Given the description of an element on the screen output the (x, y) to click on. 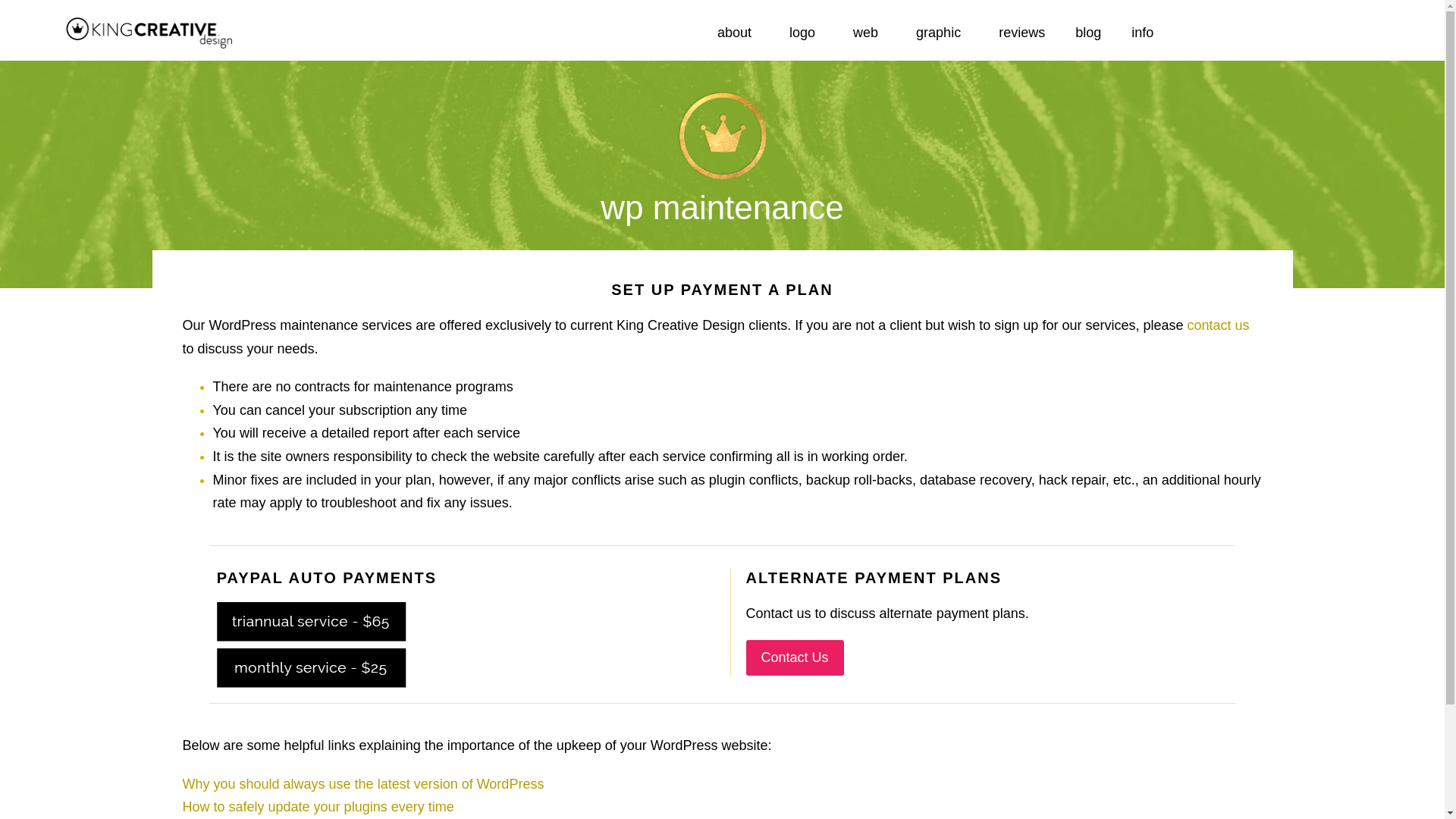
info (1146, 32)
about (737, 32)
logo (806, 32)
reviews (1021, 32)
web (869, 32)
blog (1087, 32)
graphic (942, 32)
